Given the description of an element on the screen output the (x, y) to click on. 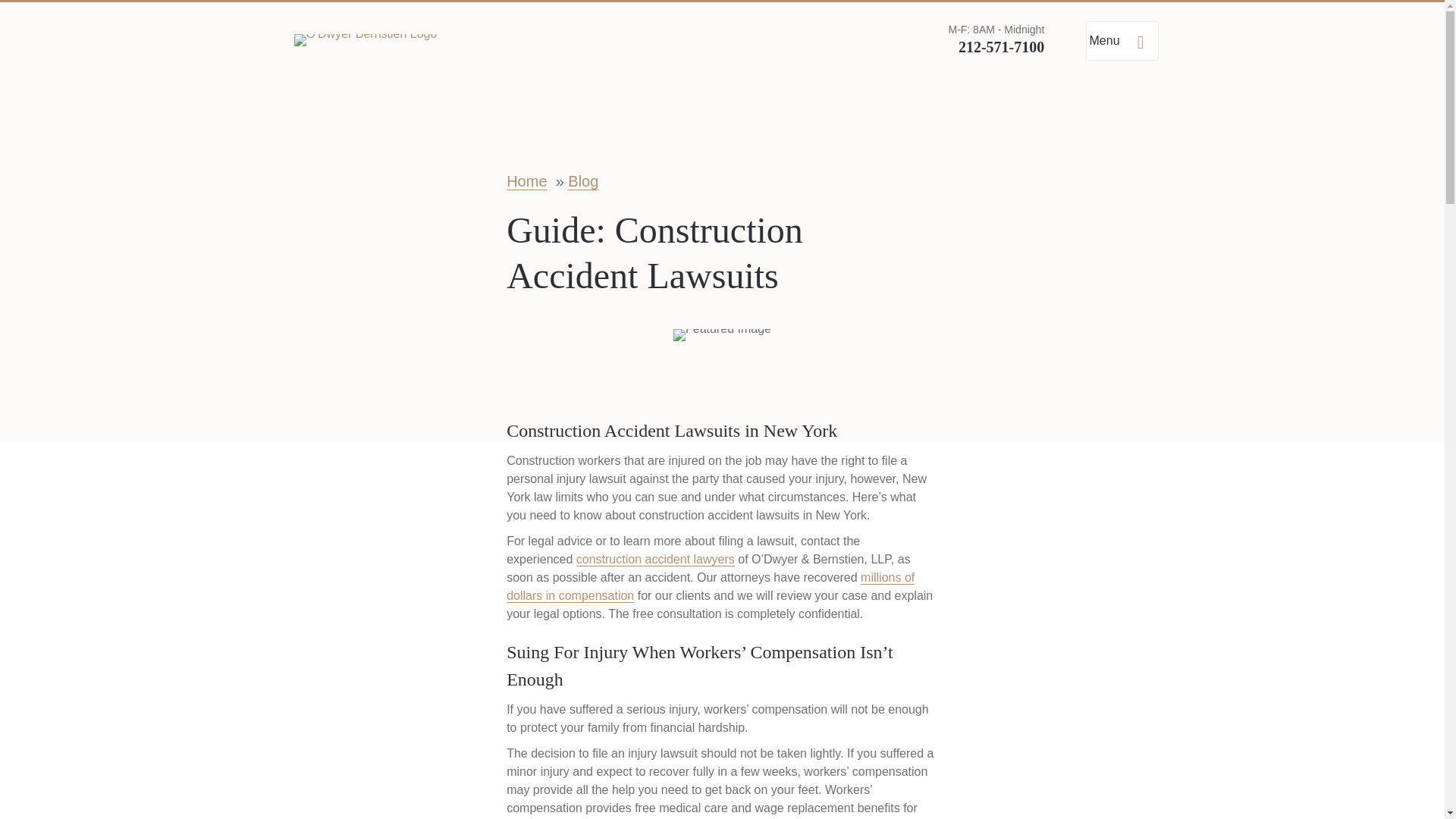
Featured Image (721, 335)
O'Dwyer Bernstien Logo (366, 39)
millions of dollars in compensation (710, 586)
Blog (582, 181)
construction accident lawyers (655, 559)
Home (526, 181)
